Given the description of an element on the screen output the (x, y) to click on. 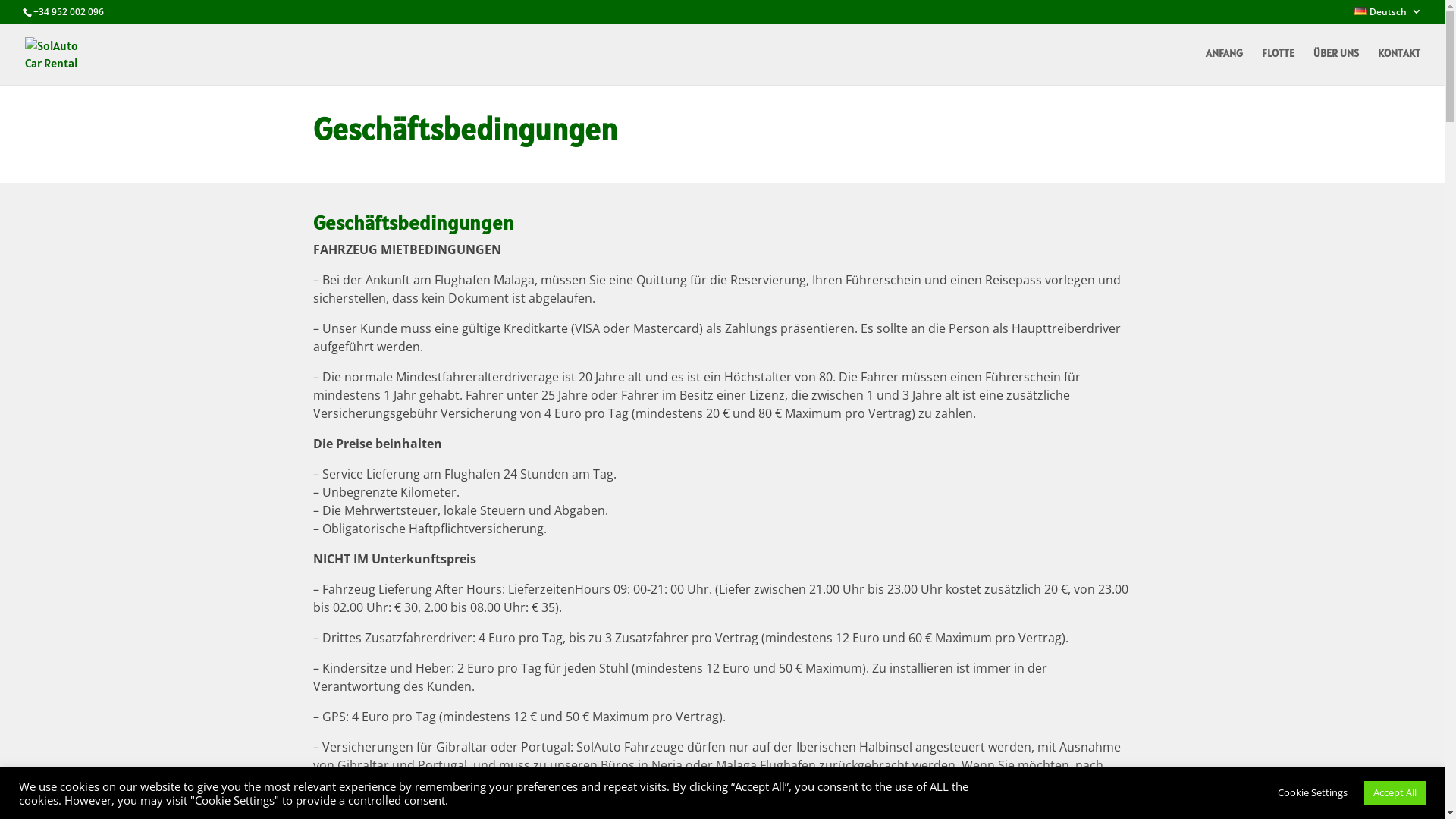
Accept All Element type: text (1394, 792)
Deutsch Element type: text (1387, 14)
Cookie Settings Element type: text (1312, 792)
FLOTTE Element type: text (1277, 65)
ANFANG Element type: text (1223, 65)
KONTAKT Element type: text (1398, 65)
